Given the description of an element on the screen output the (x, y) to click on. 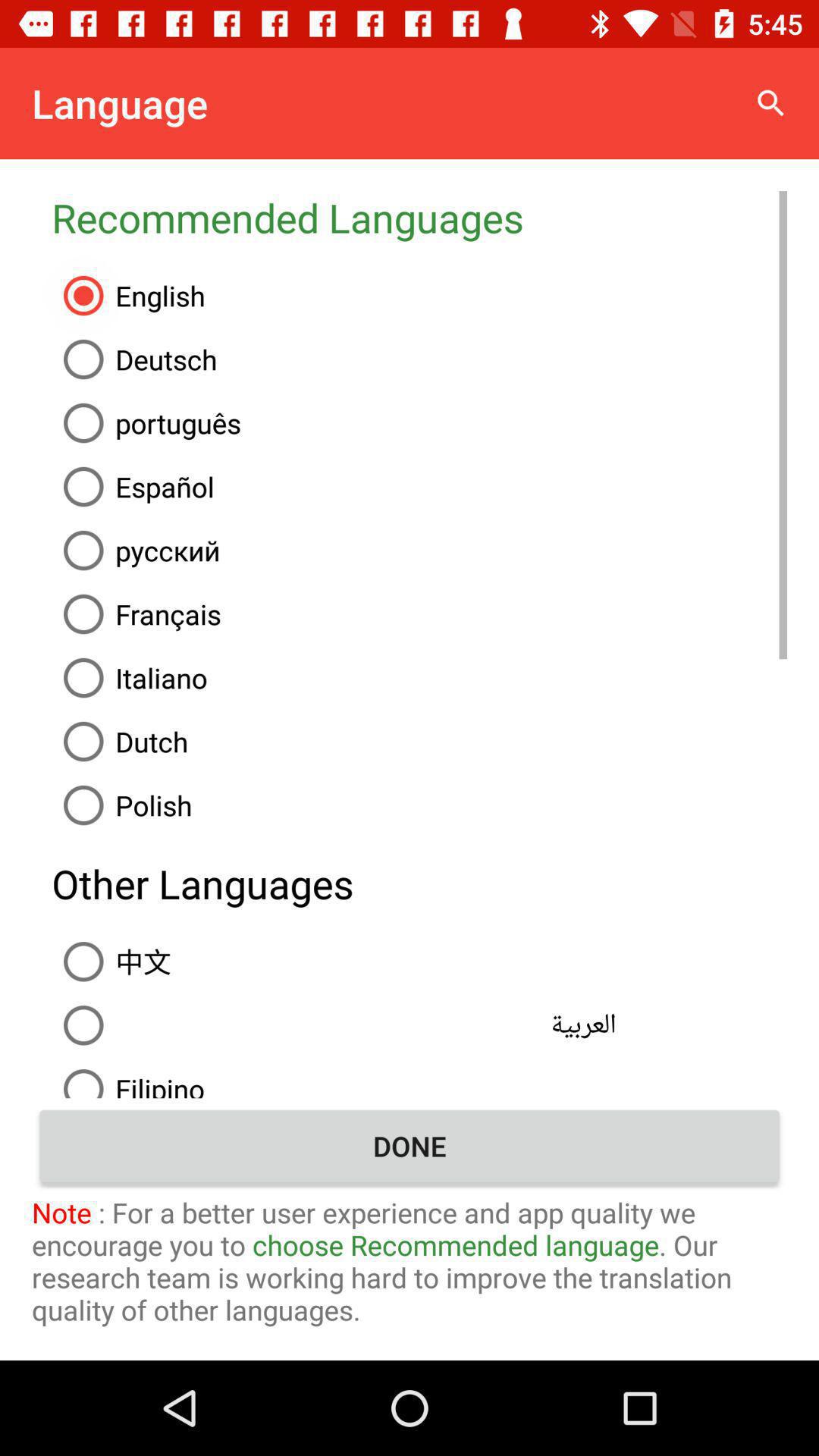
press the deutsch (419, 359)
